Given the description of an element on the screen output the (x, y) to click on. 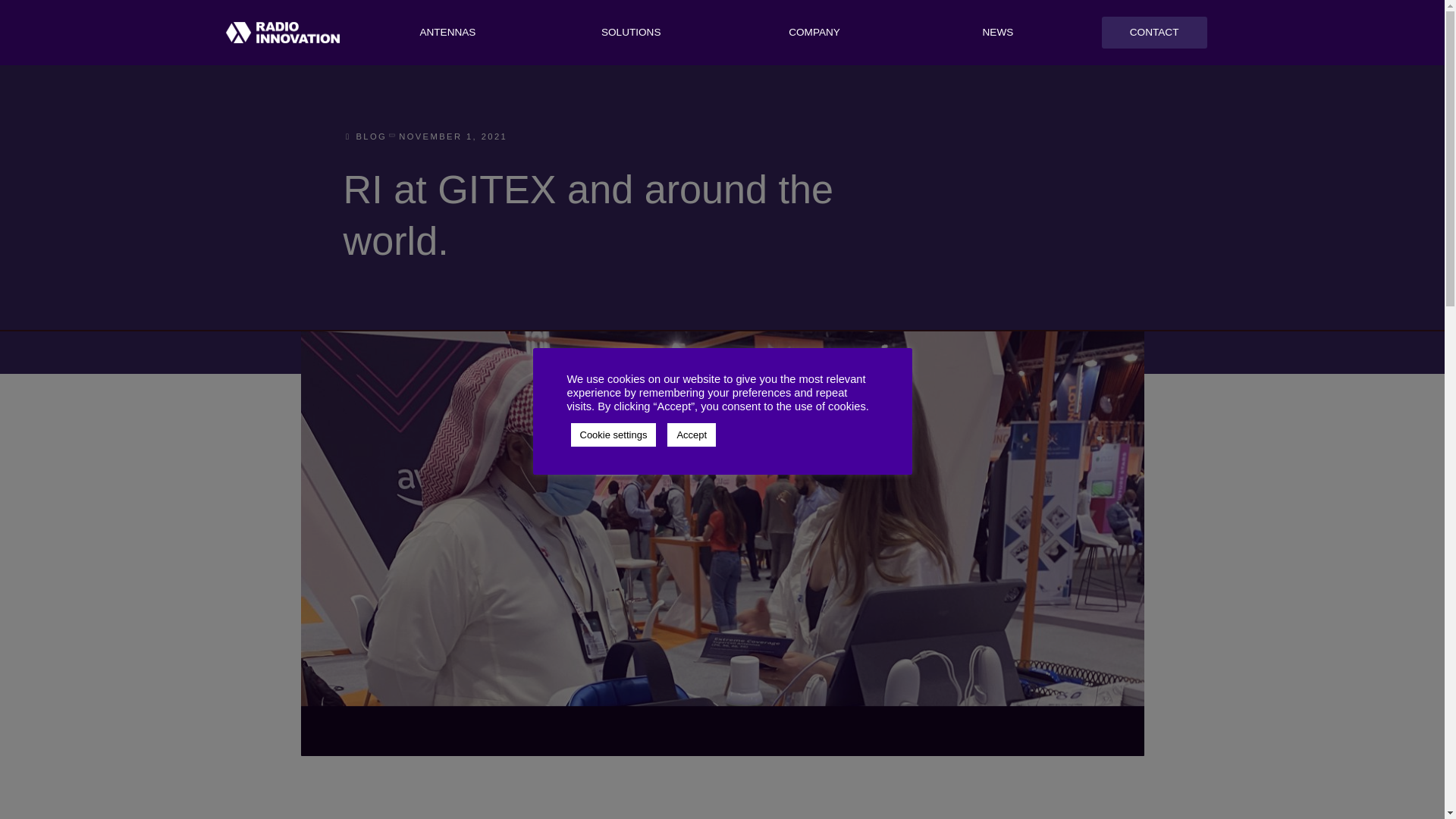
SOLUTIONS (630, 32)
CONTACT (1154, 32)
NEWS (997, 32)
ANTENNAS (448, 32)
COMPANY (813, 32)
BLOG (363, 136)
